Given the description of an element on the screen output the (x, y) to click on. 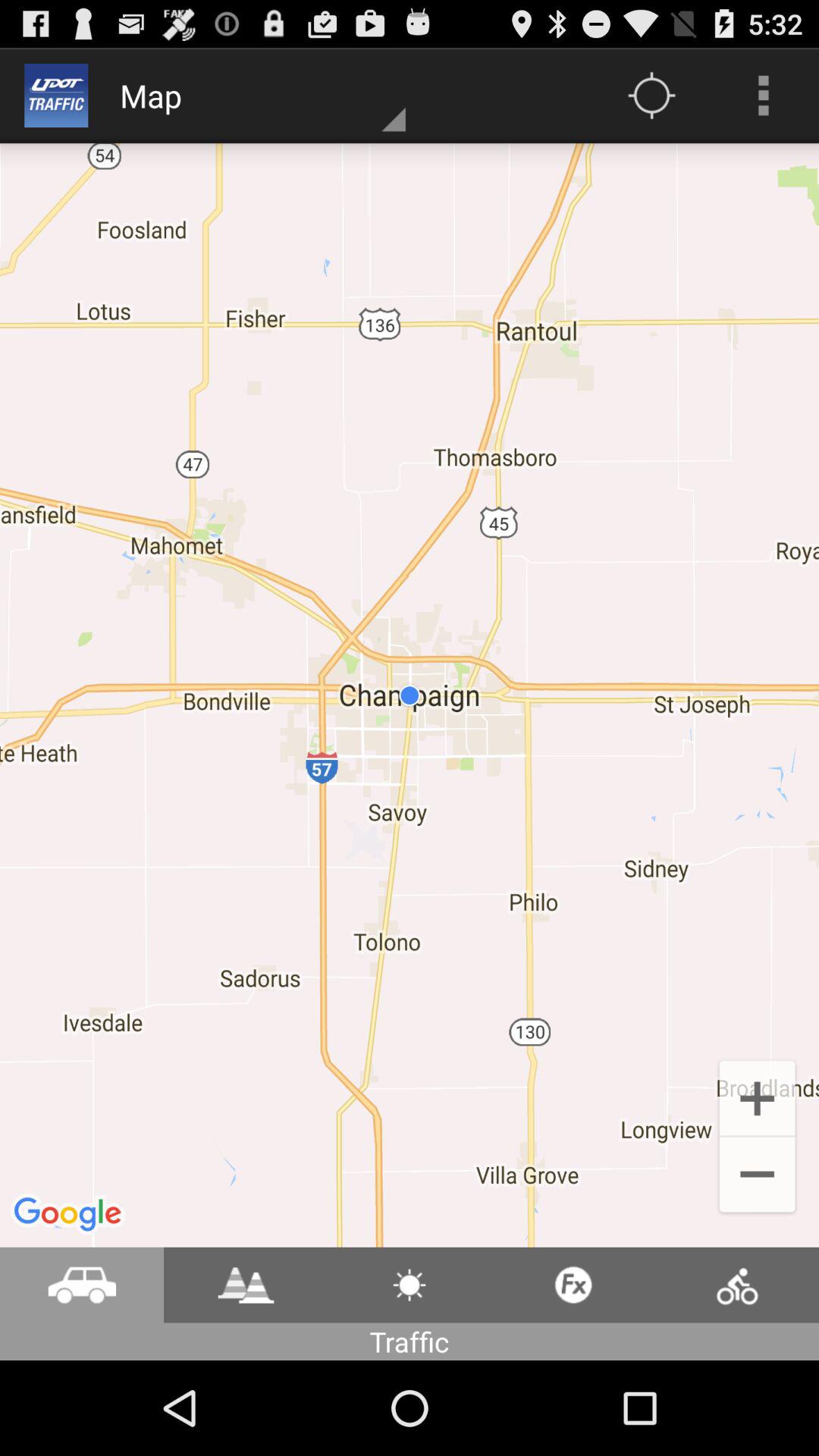
find weather (409, 1284)
